Given the description of an element on the screen output the (x, y) to click on. 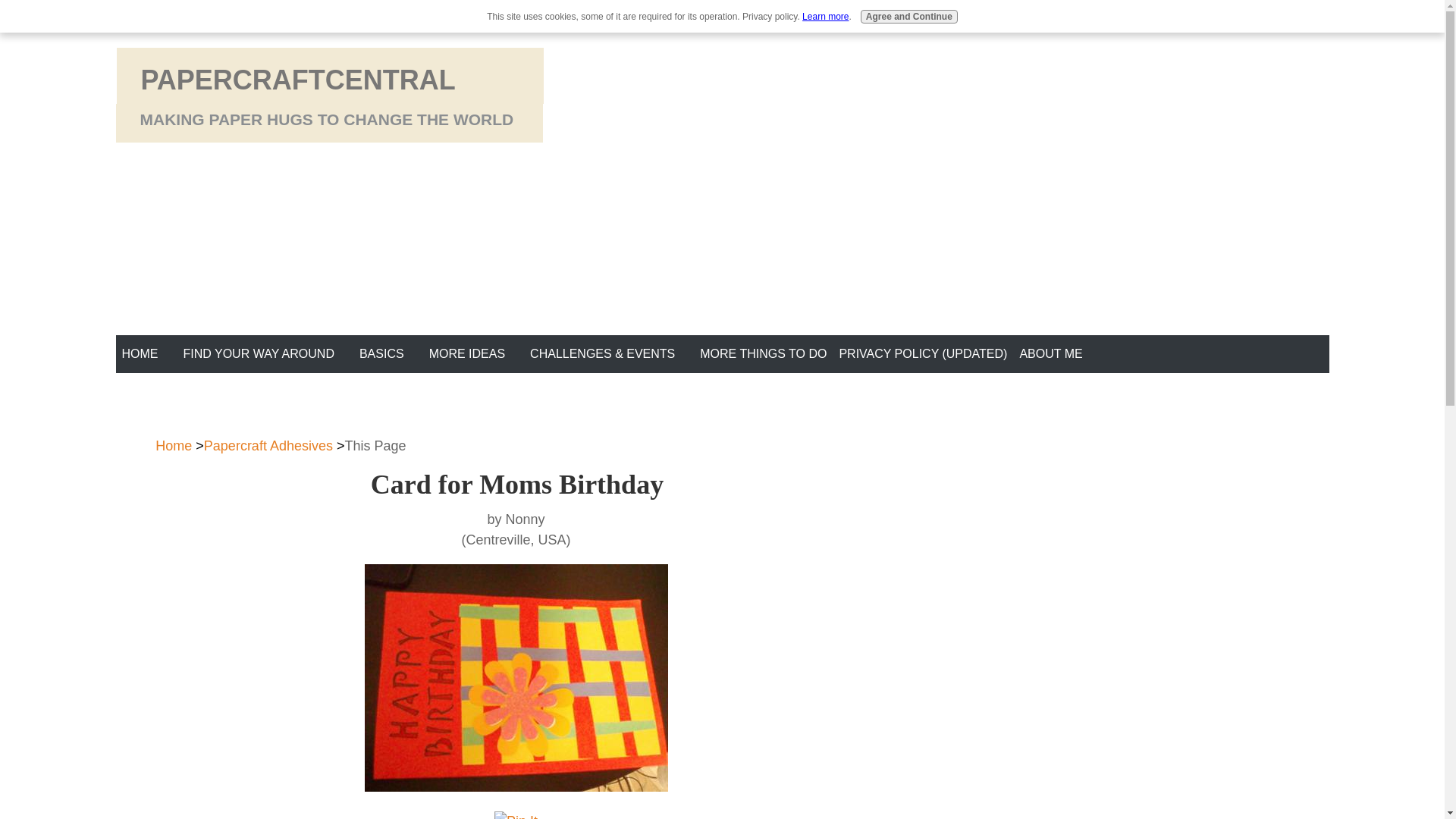
Home (173, 445)
Learn more (825, 16)
PAPERCRAFTCENTRAL (298, 79)
ABOUT ME (1050, 353)
HOME (139, 353)
Pin It (516, 815)
Agree and Continue (909, 16)
Papercraft Adhesives (268, 445)
